Given the description of an element on the screen output the (x, y) to click on. 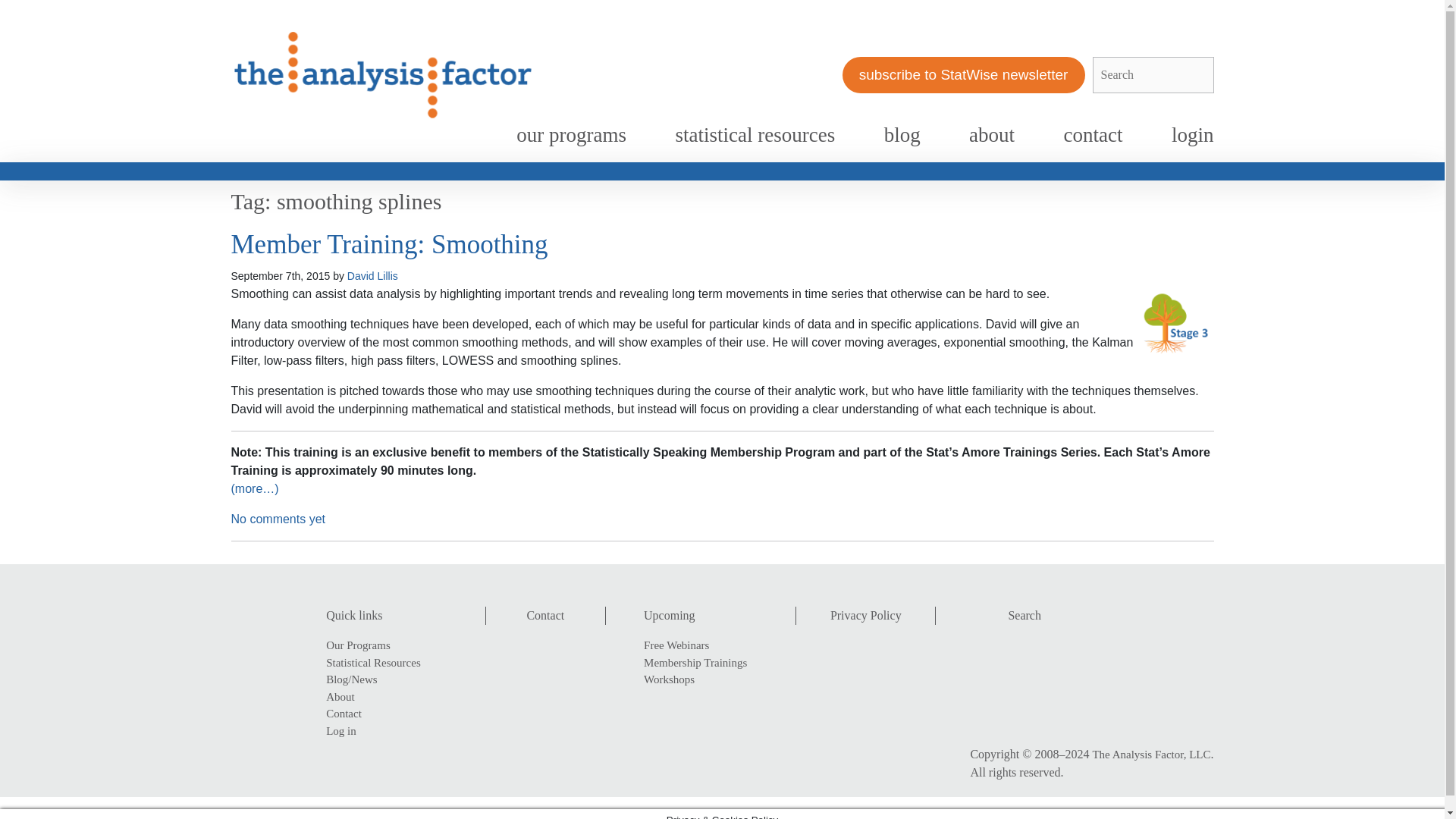
Free Webinars (710, 645)
subscribe to StatWise newsletter (962, 75)
Contact (544, 615)
About (395, 696)
blog (902, 134)
login (1192, 134)
Our Programs (395, 645)
Posts by David Lillis (372, 275)
our programs (571, 134)
Go to Home page (382, 74)
